Given the description of an element on the screen output the (x, y) to click on. 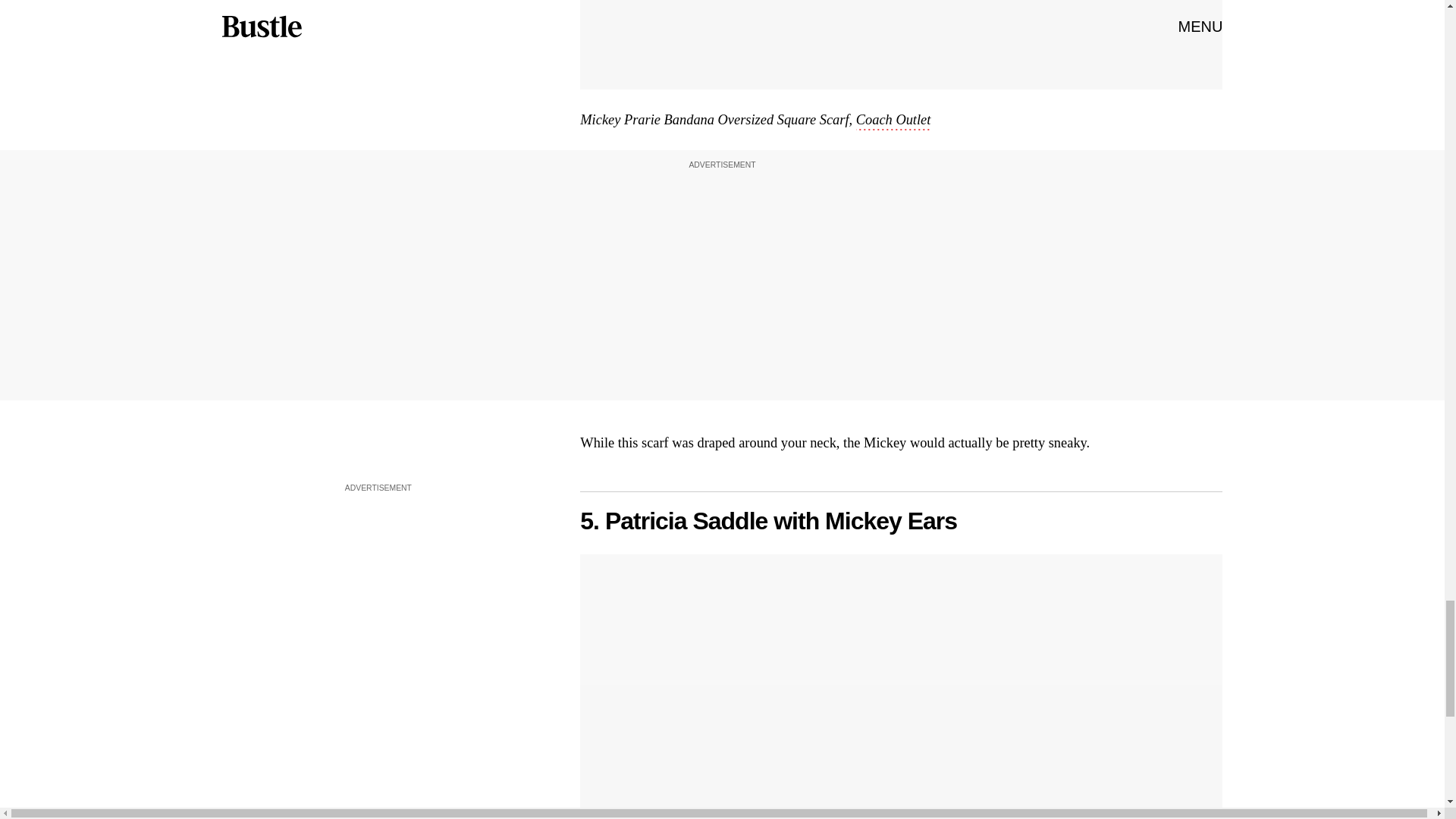
Coach Outlet (893, 121)
